Given the description of an element on the screen output the (x, y) to click on. 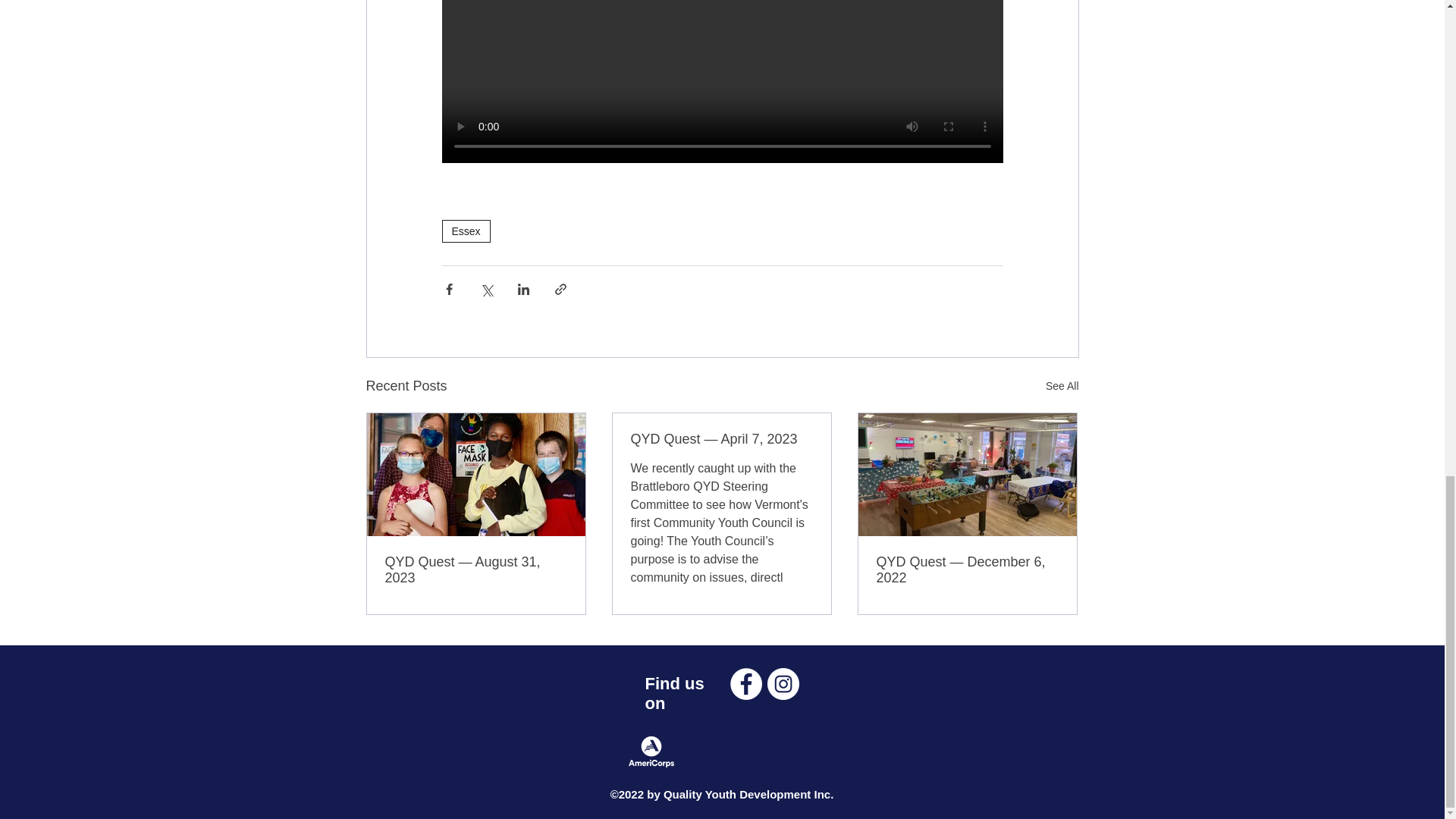
Essex (465, 231)
See All (1061, 386)
